Given the description of an element on the screen output the (x, y) to click on. 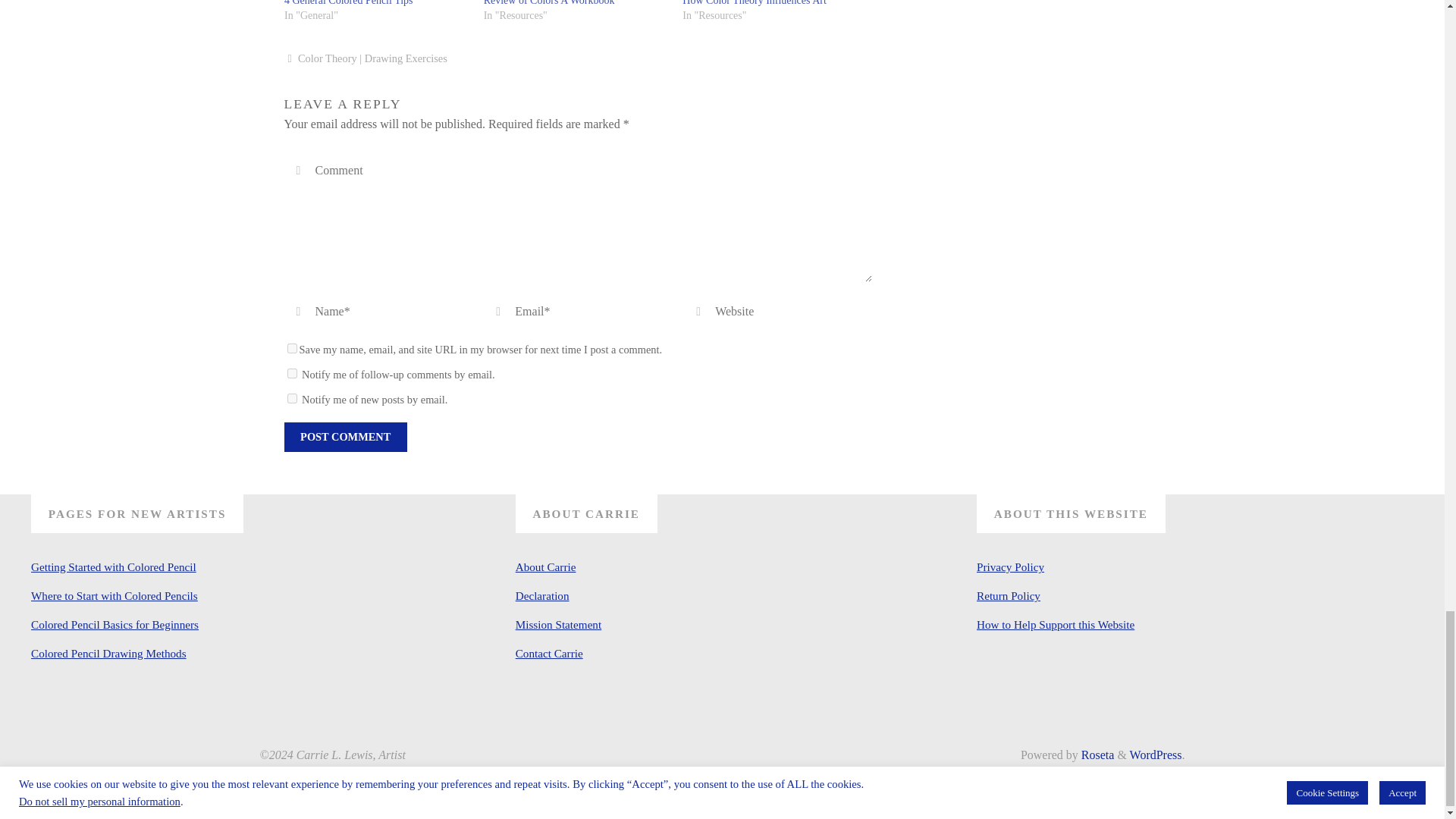
subscribe (291, 398)
subscribe (291, 373)
yes (291, 347)
Post Comment (344, 437)
